Given the description of an element on the screen output the (x, y) to click on. 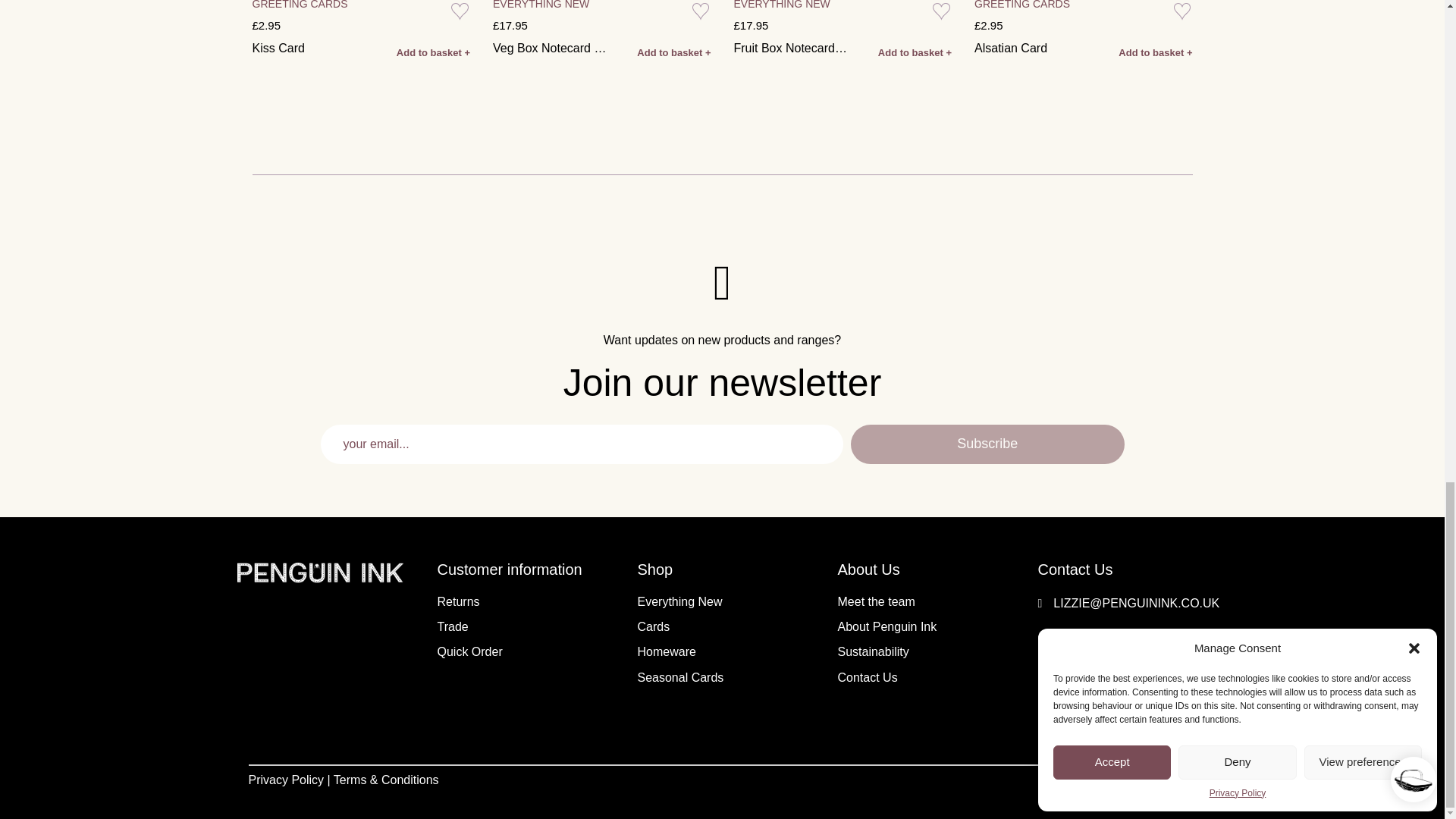
Subscribe (987, 444)
